Given the description of an element on the screen output the (x, y) to click on. 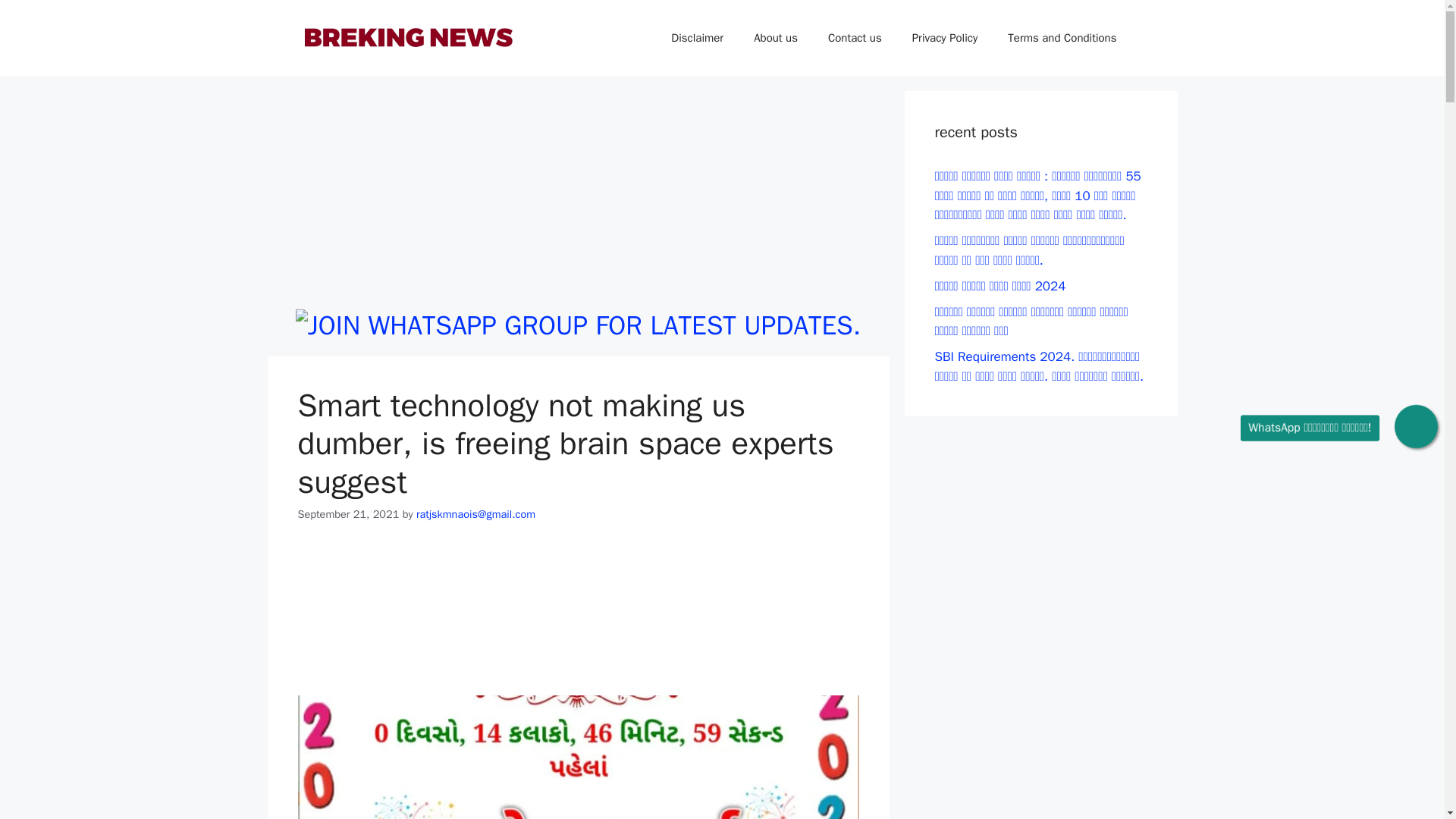
Disclaimer (697, 37)
Privacy Policy (944, 37)
Contact us (854, 37)
About us (775, 37)
Advertisement (577, 196)
Advertisement (578, 618)
Terms and Conditions (1061, 37)
